Given the description of an element on the screen output the (x, y) to click on. 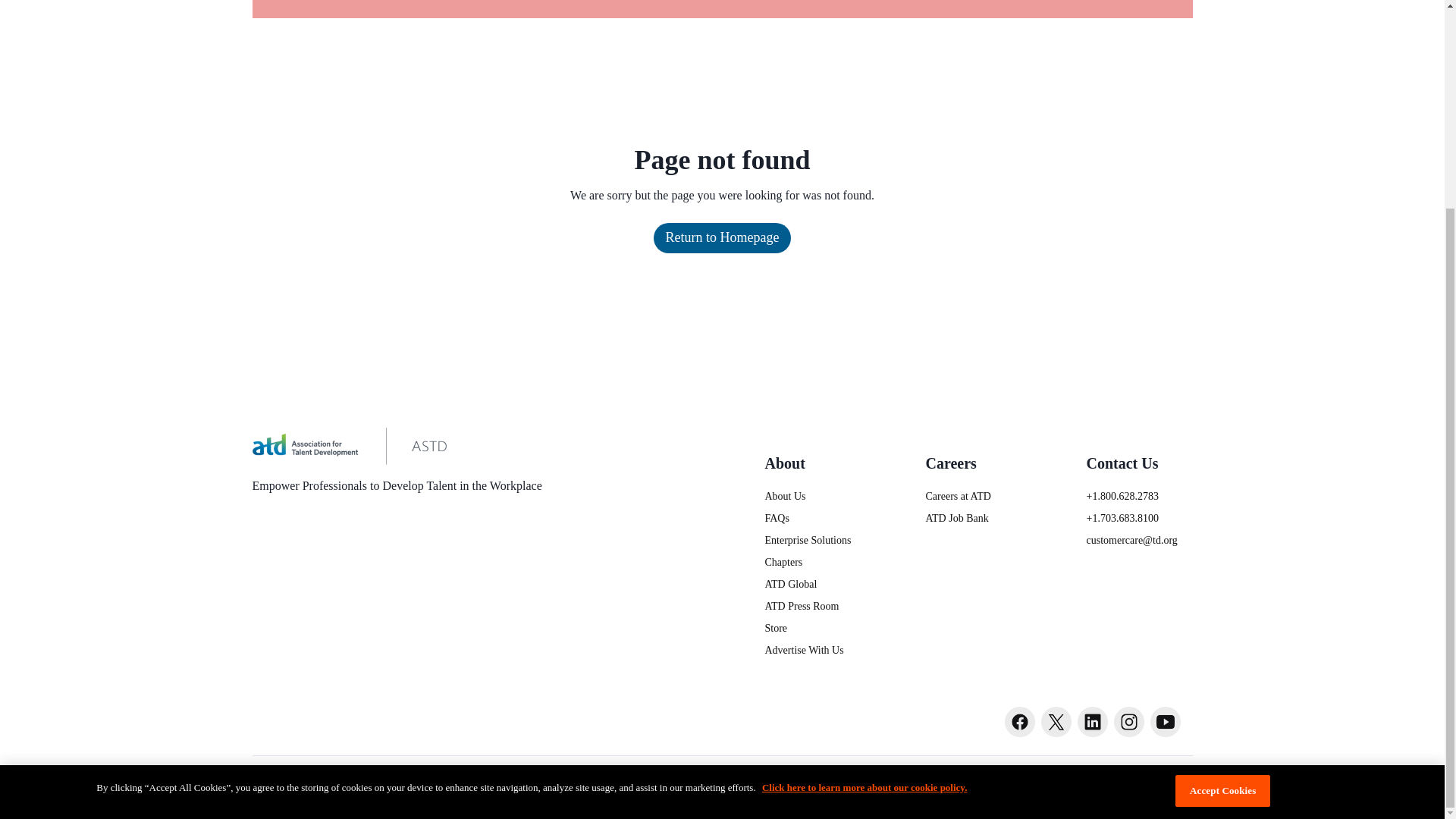
Careers at ATD (977, 496)
ATD Press Room (817, 606)
Advertise With Us (817, 650)
Terms of Use (961, 775)
Enterprise Solutions (817, 539)
Empower Professionals to Develop Talent in the Workplace (396, 461)
ATD Job Bank (977, 518)
FAQs (817, 518)
About Us (817, 496)
Privacy Notice (1051, 775)
Cookie Policy (1143, 775)
ATD Global (817, 584)
Store (817, 627)
Chapters (817, 562)
Return to Homepage (722, 237)
